Given the description of an element on the screen output the (x, y) to click on. 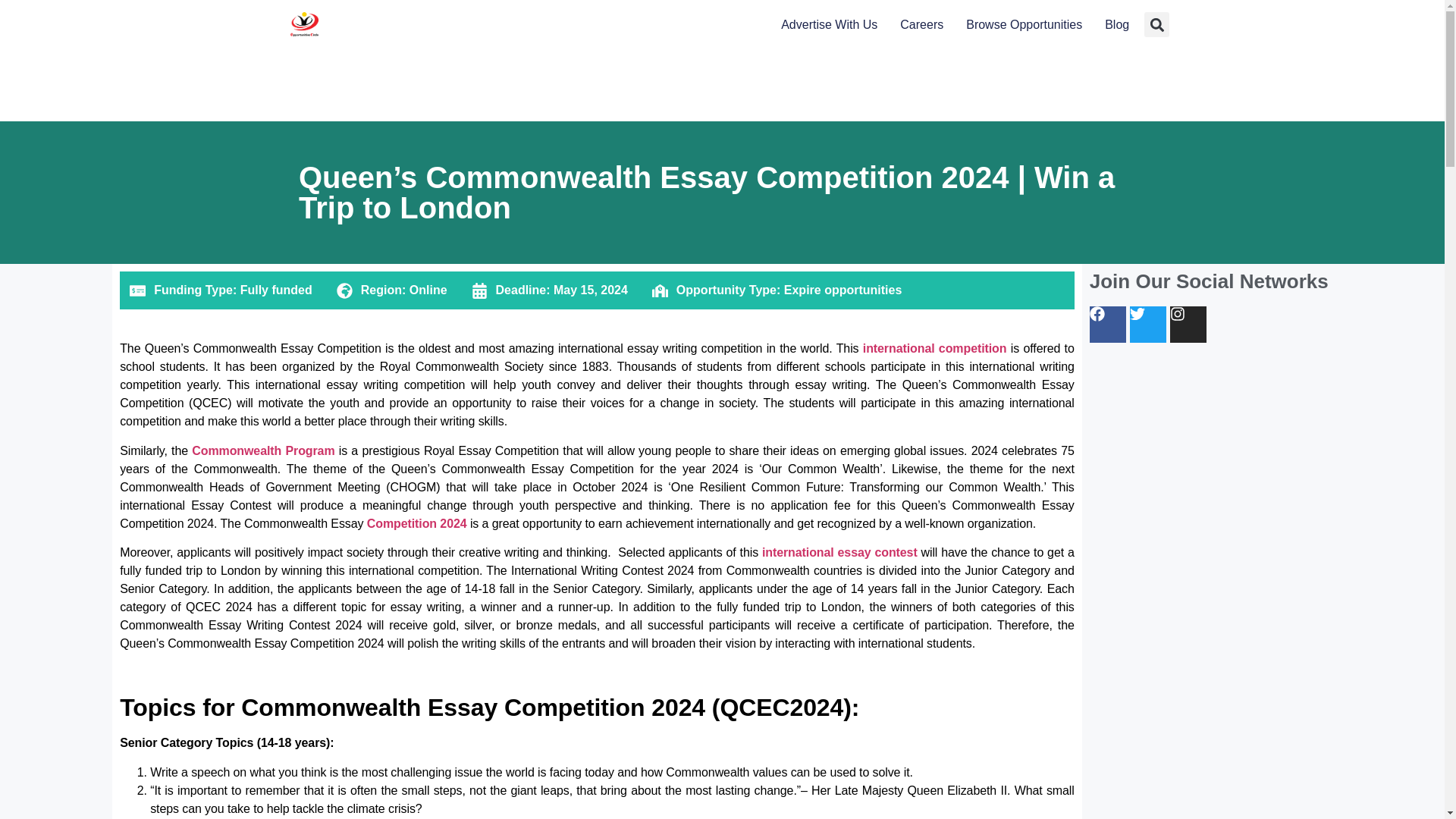
Expire opportunities (843, 289)
Commonwealth Program (263, 450)
Advertise With Us (828, 25)
Online (427, 289)
international essay contest (839, 552)
Blog (1117, 25)
Competition 2024 (416, 522)
international competition (932, 348)
Careers (921, 25)
Browse Opportunities (1023, 25)
